Given the description of an element on the screen output the (x, y) to click on. 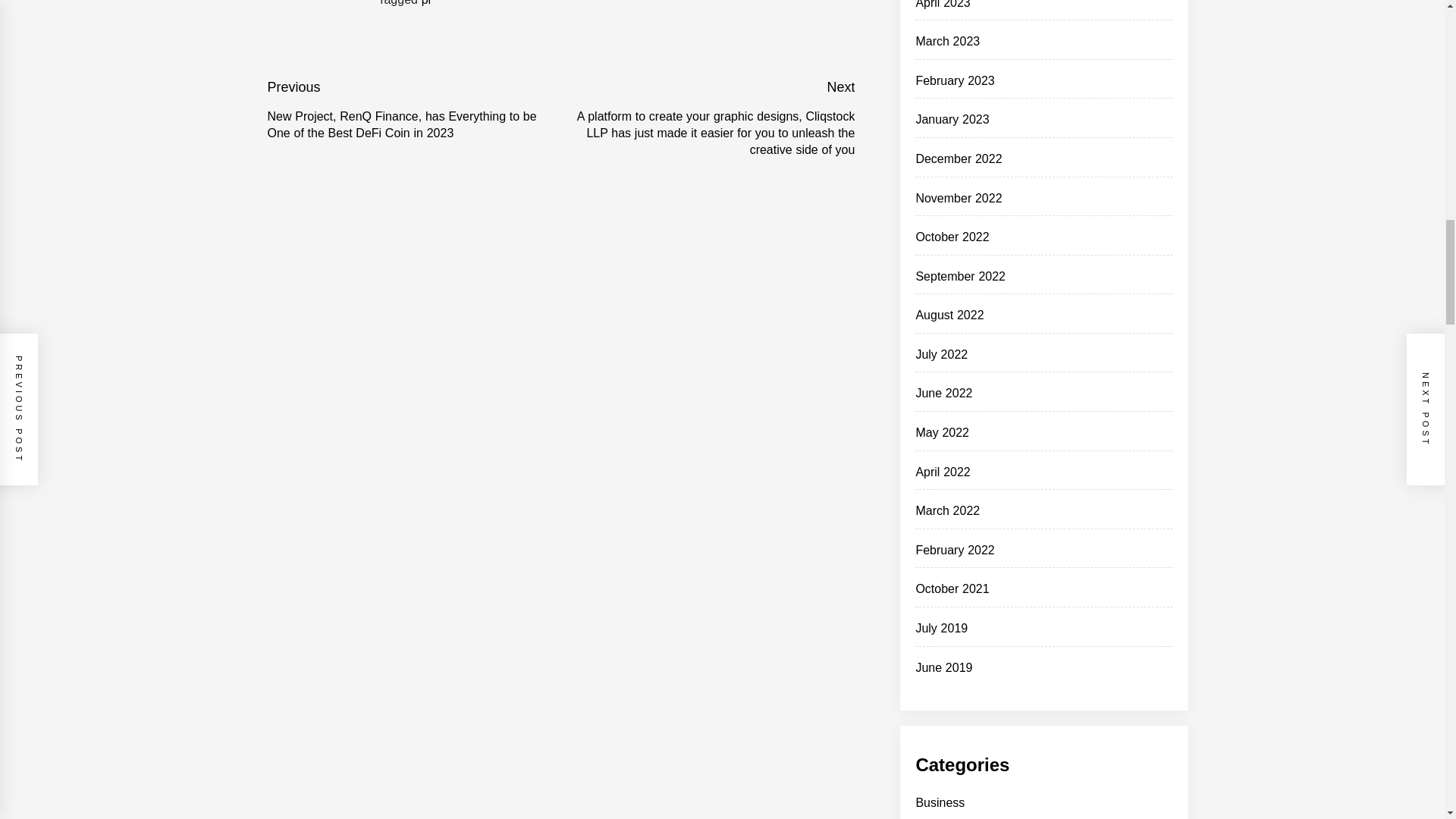
pr (427, 2)
